Given the description of an element on the screen output the (x, y) to click on. 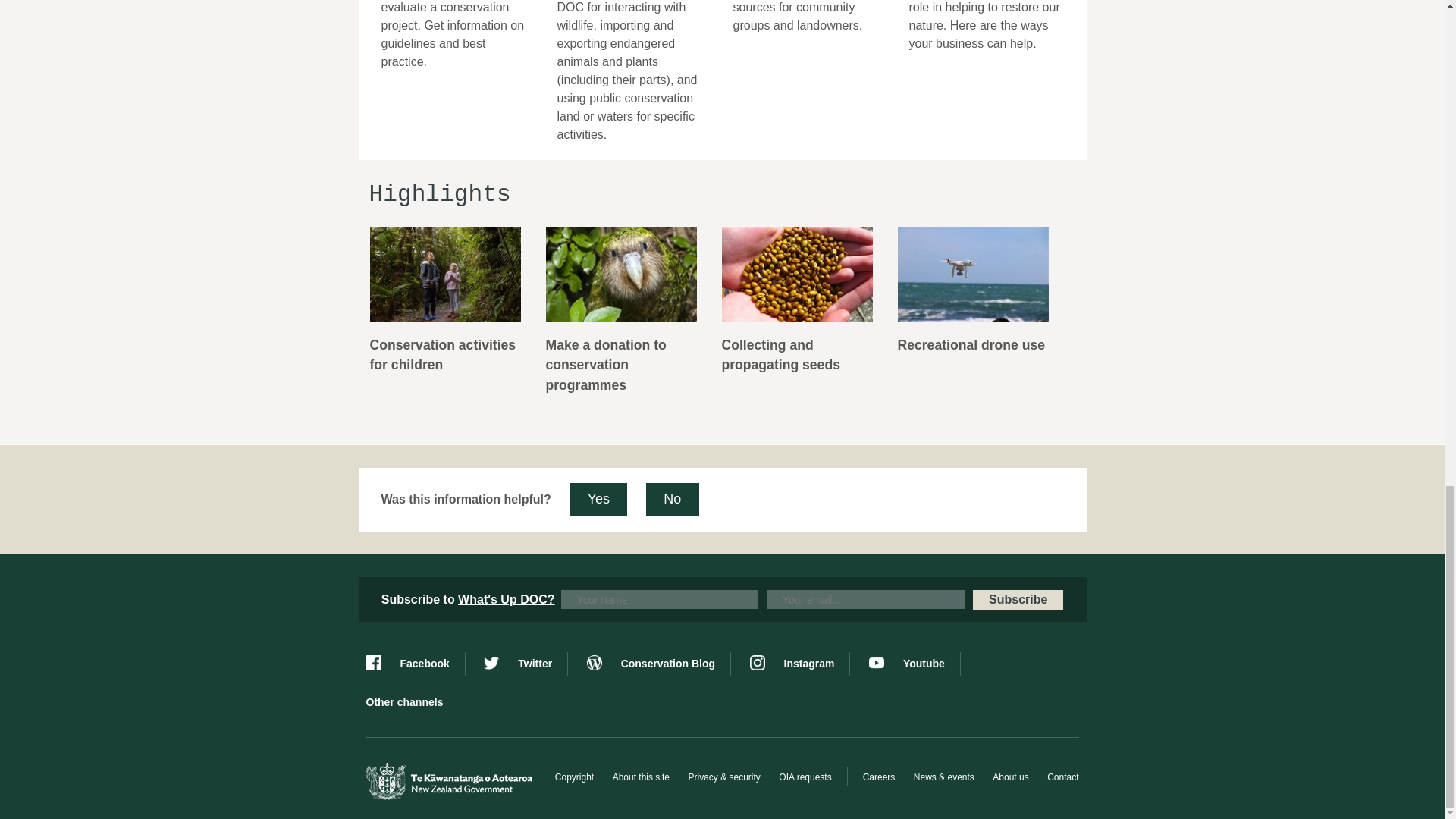
Recreational drone use: Apply for permits (972, 294)
Subscribe (1017, 599)
youtube (914, 663)
facebook (414, 663)
blog (658, 663)
Ecosource seeds: Native plant restoration (797, 304)
Conservation activities: Get involved (445, 304)
twitter (525, 663)
instagram (799, 663)
